Given the description of an element on the screen output the (x, y) to click on. 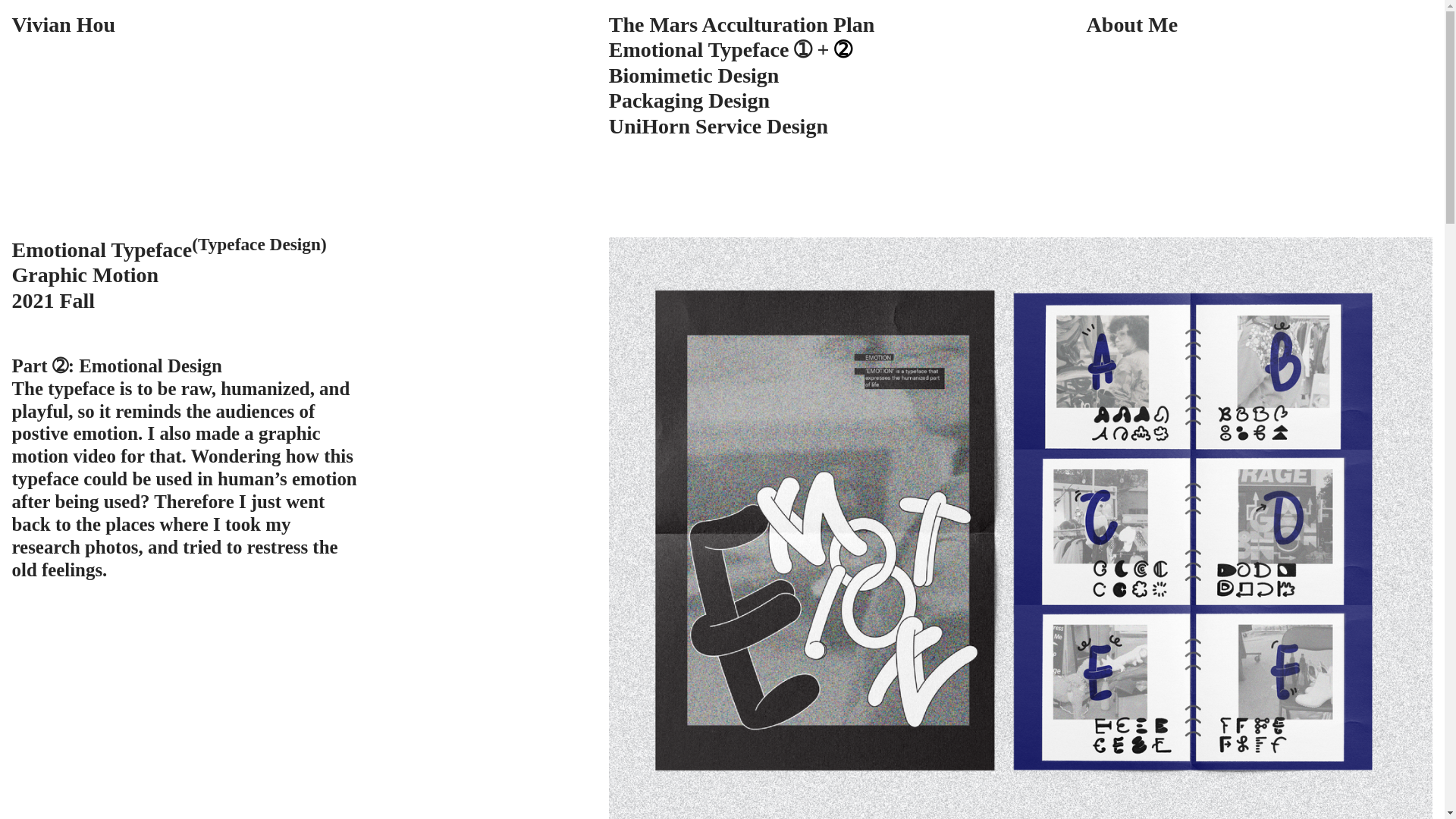
UniHorn Service Design (718, 126)
Biomimetic Design (693, 74)
About Me (1131, 24)
Packaging Design (689, 100)
The Mars Acculturation Plan (741, 24)
